Given the description of an element on the screen output the (x, y) to click on. 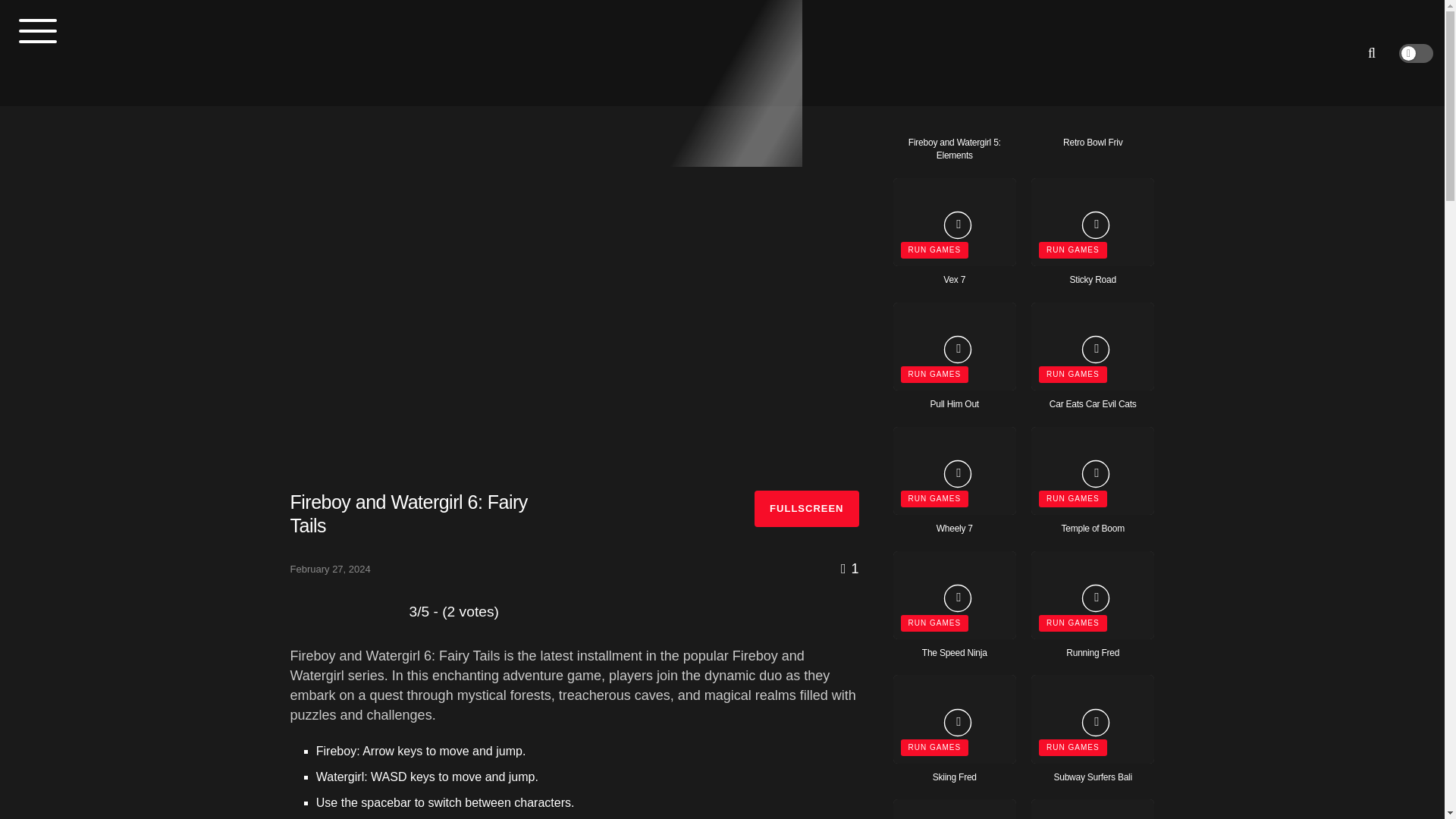
February 27, 2024 (329, 568)
FULLSCREEN (806, 508)
1 (850, 568)
